Given the description of an element on the screen output the (x, y) to click on. 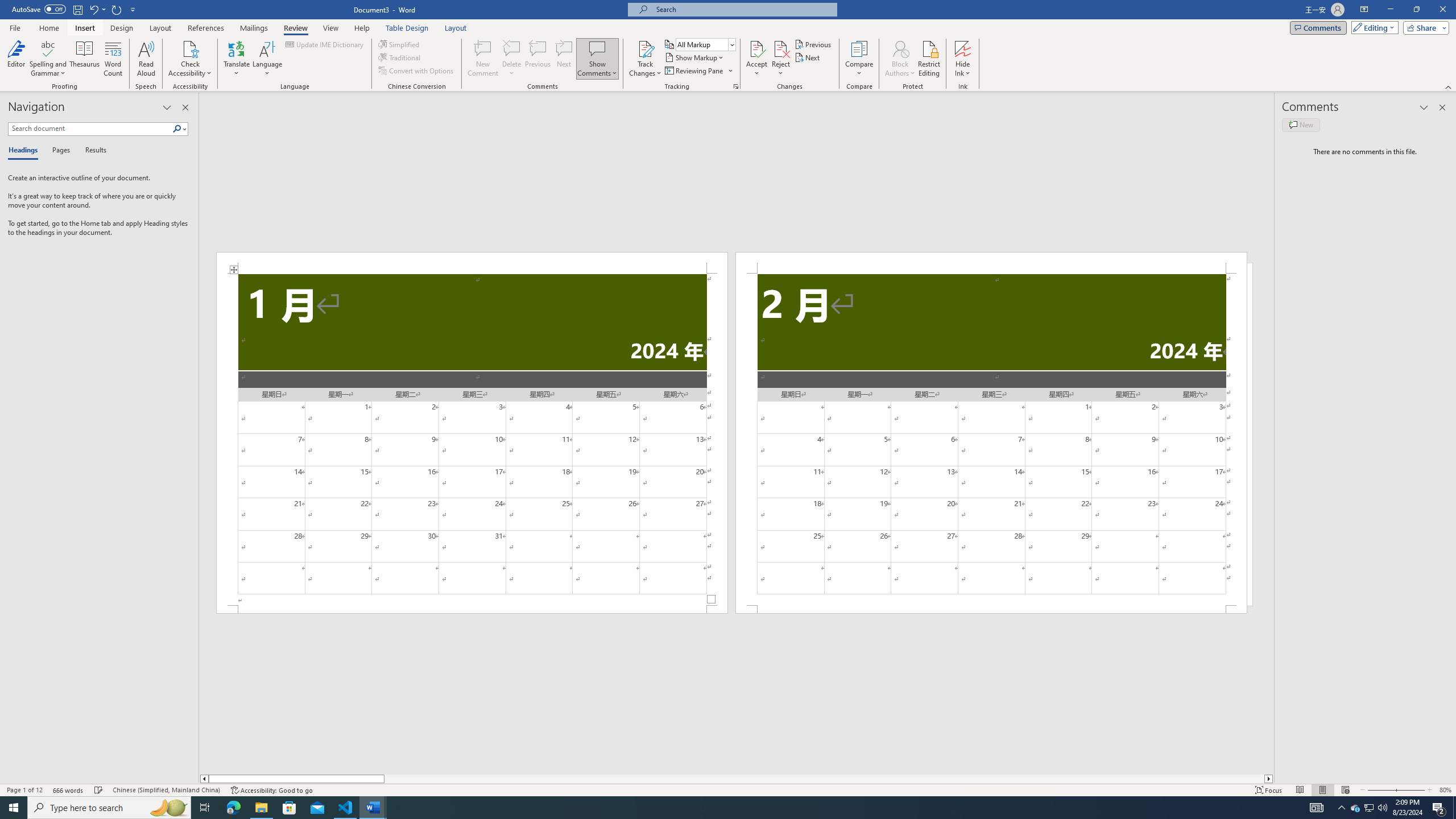
Display for Review (705, 44)
Traditional (400, 56)
Compare (859, 58)
Read Aloud (145, 58)
Reject (780, 58)
Reject and Move to Next (780, 48)
Accept (756, 58)
